Given the description of an element on the screen output the (x, y) to click on. 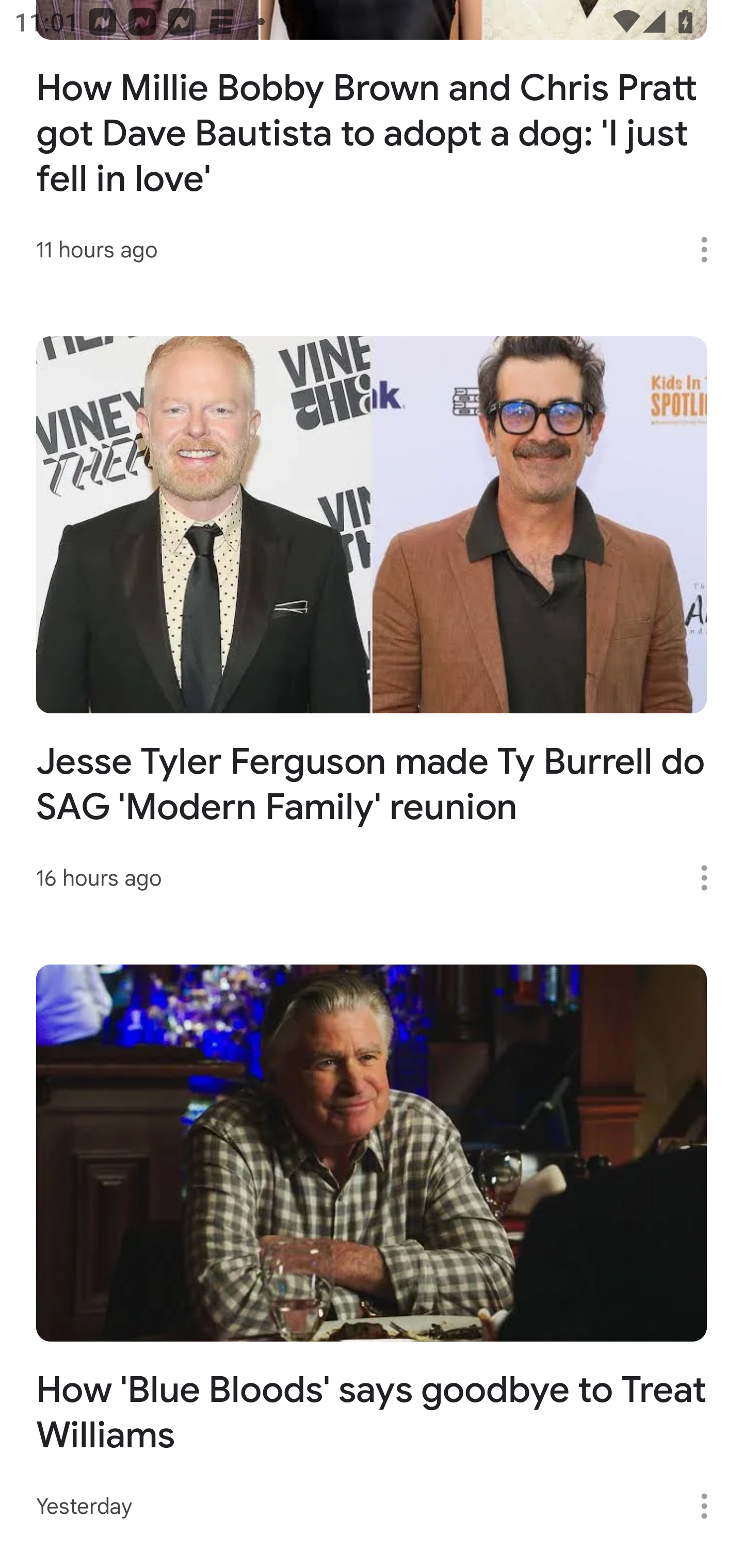
More options (711, 249)
More options (711, 878)
More options (711, 1505)
